Given the description of an element on the screen output the (x, y) to click on. 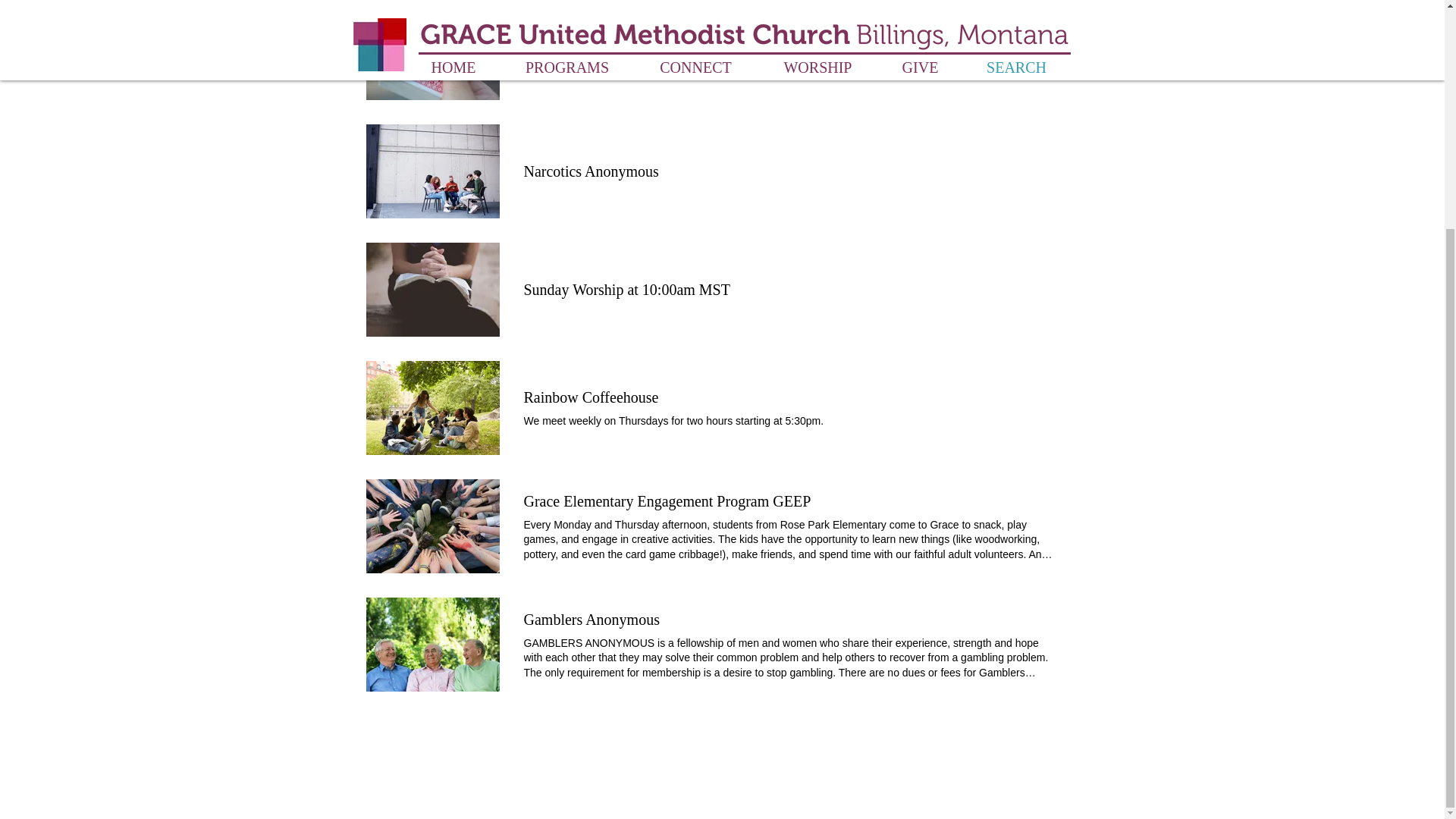
Rainbow Coffeehouse (590, 396)
Sunday Worship at 10:00am MST (625, 289)
Gamblers Anonymous (432, 644)
Rainbow Coffeehouse (590, 396)
Sunday Worship at 10:00am MST (625, 289)
Gamblers Anonymous (590, 619)
Narcotics Anonymous (432, 171)
Grace Elementary Engagement Program GEEP (666, 500)
Pinocle Club (562, 52)
Narcotics Anonymous (590, 170)
Grace Elementary Engagement Program GEEP (666, 500)
Rainbow Coffeehouse (432, 408)
Pinocle Club (562, 52)
Narcotics Anonymous (590, 170)
Grace Elementary Engagement Program GEEP (432, 526)
